Given the description of an element on the screen output the (x, y) to click on. 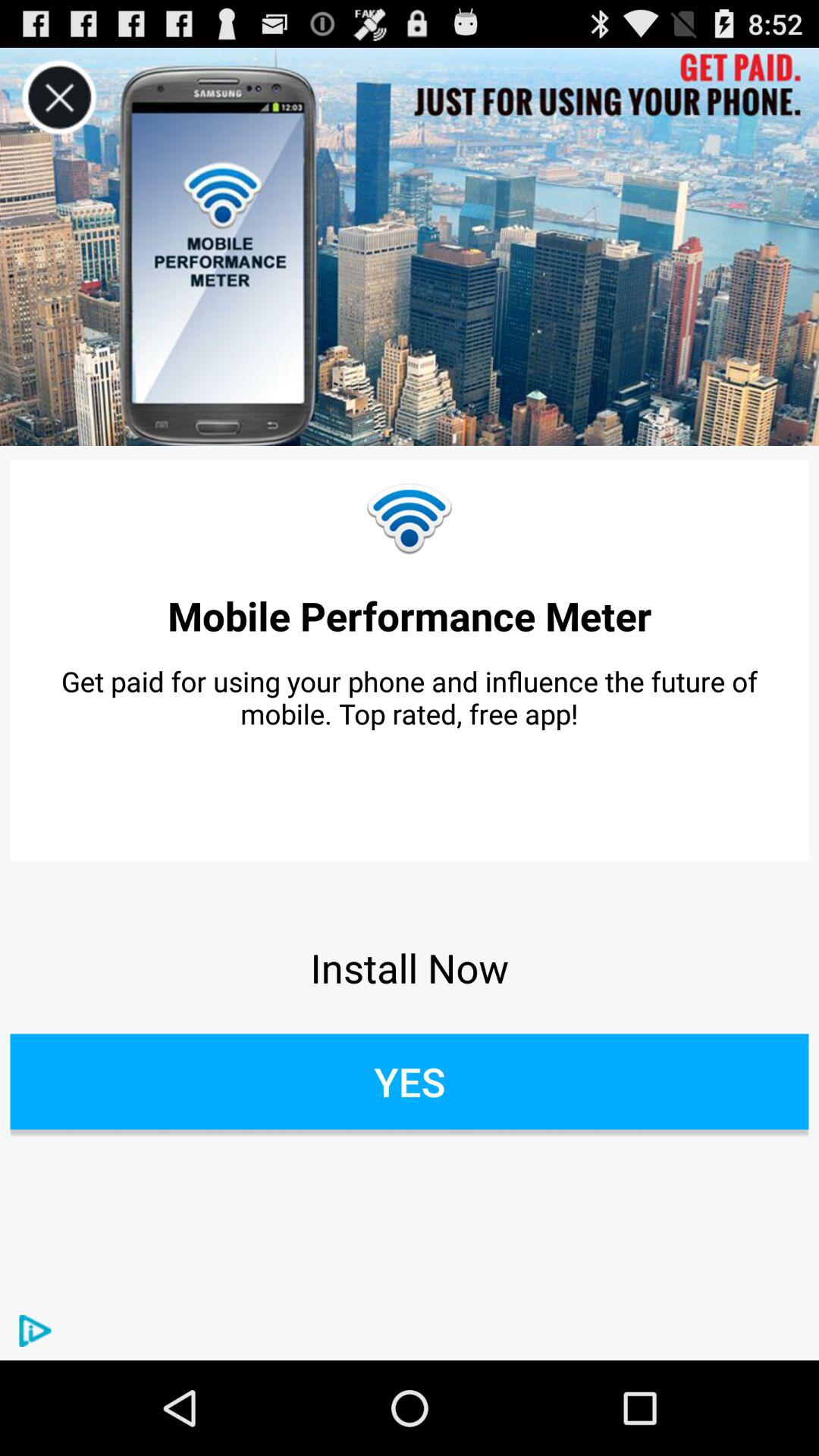
scroll until get paid for item (409, 697)
